Given the description of an element on the screen output the (x, y) to click on. 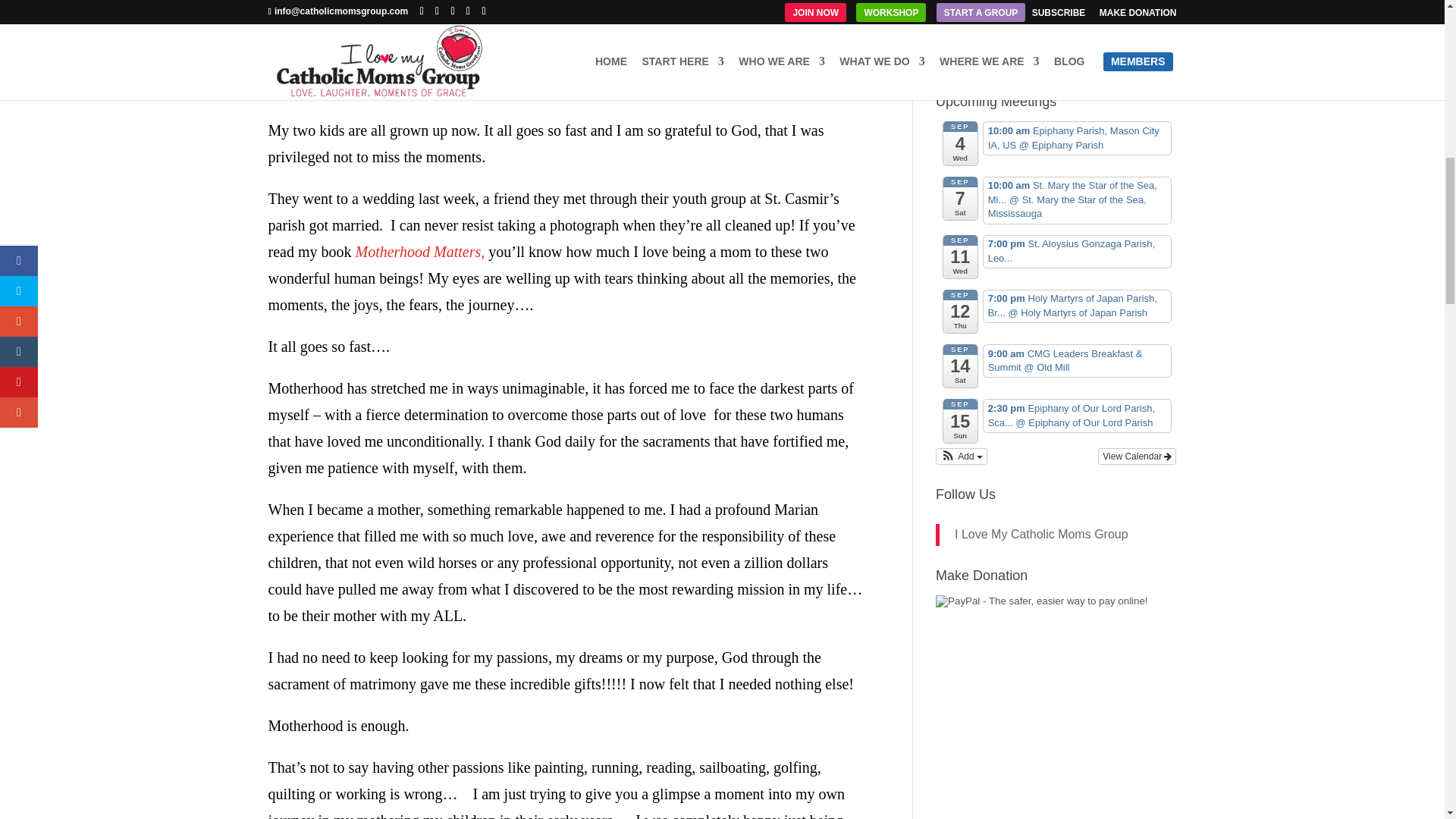
Motherhood Matters,  (421, 251)
advertisement (980, 60)
advertisement (1056, 21)
